Given the description of an element on the screen output the (x, y) to click on. 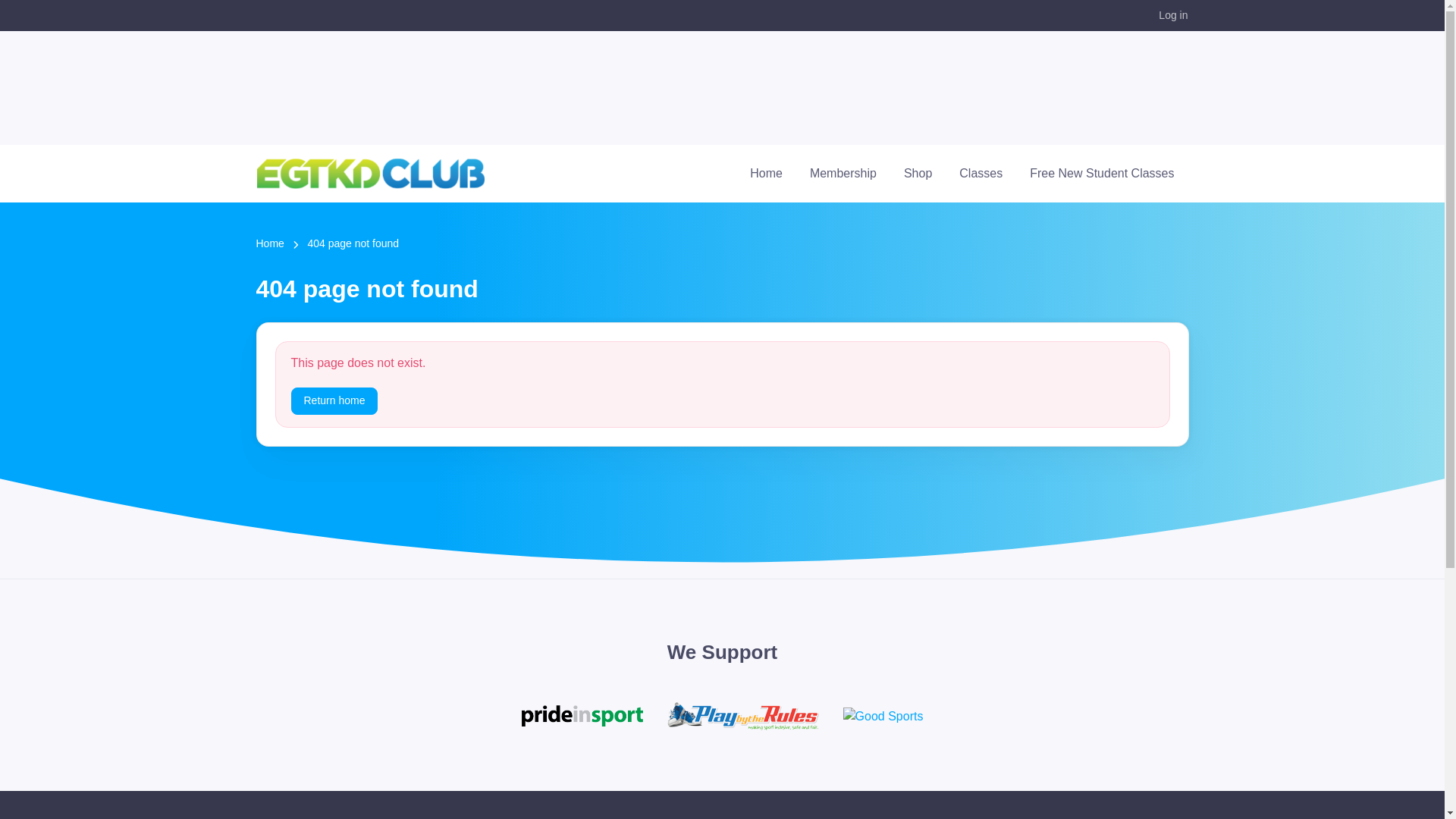
Return home Element type: text (334, 401)
Classes Element type: text (980, 173)
Shop Element type: text (917, 173)
Log in Element type: text (1171, 15)
Home Element type: text (270, 244)
Membership Element type: text (843, 173)
Home Element type: text (766, 173)
Free New Student Classes Element type: text (1101, 173)
